Given the description of an element on the screen output the (x, y) to click on. 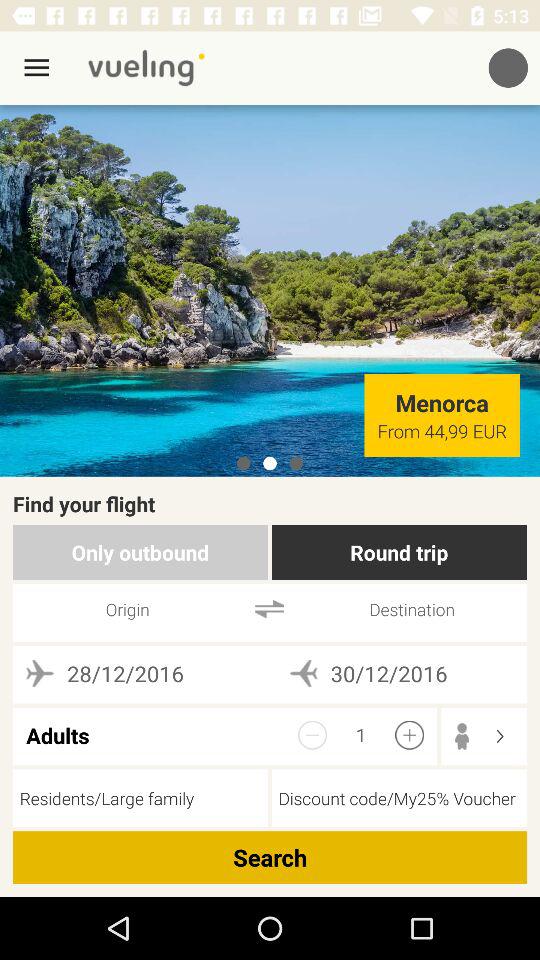
turn off icon next to the origin icon (269, 608)
